Given the description of an element on the screen output the (x, y) to click on. 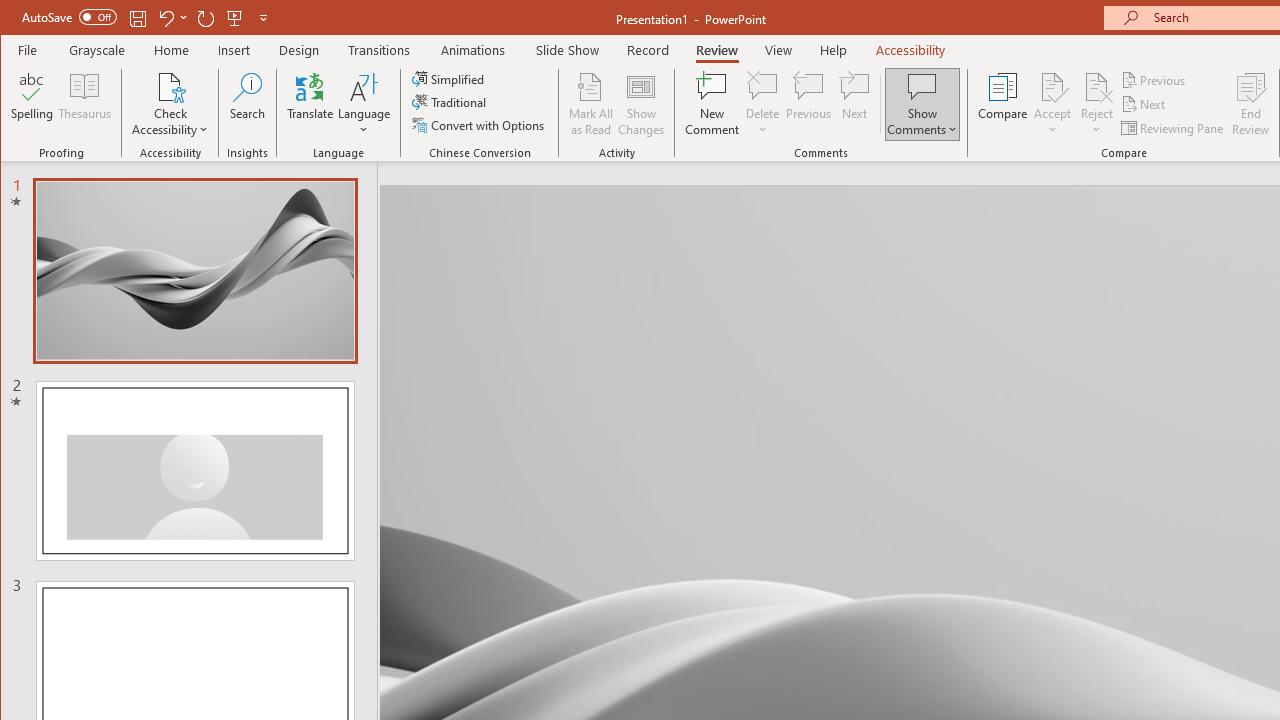
Reject Change (1096, 86)
Mark All as Read (591, 104)
Next (1144, 103)
Reviewing Pane (1173, 127)
Accept Change (1052, 86)
Convert with Options... (479, 124)
Accept (1052, 104)
Reject (1096, 104)
